Given the description of an element on the screen output the (x, y) to click on. 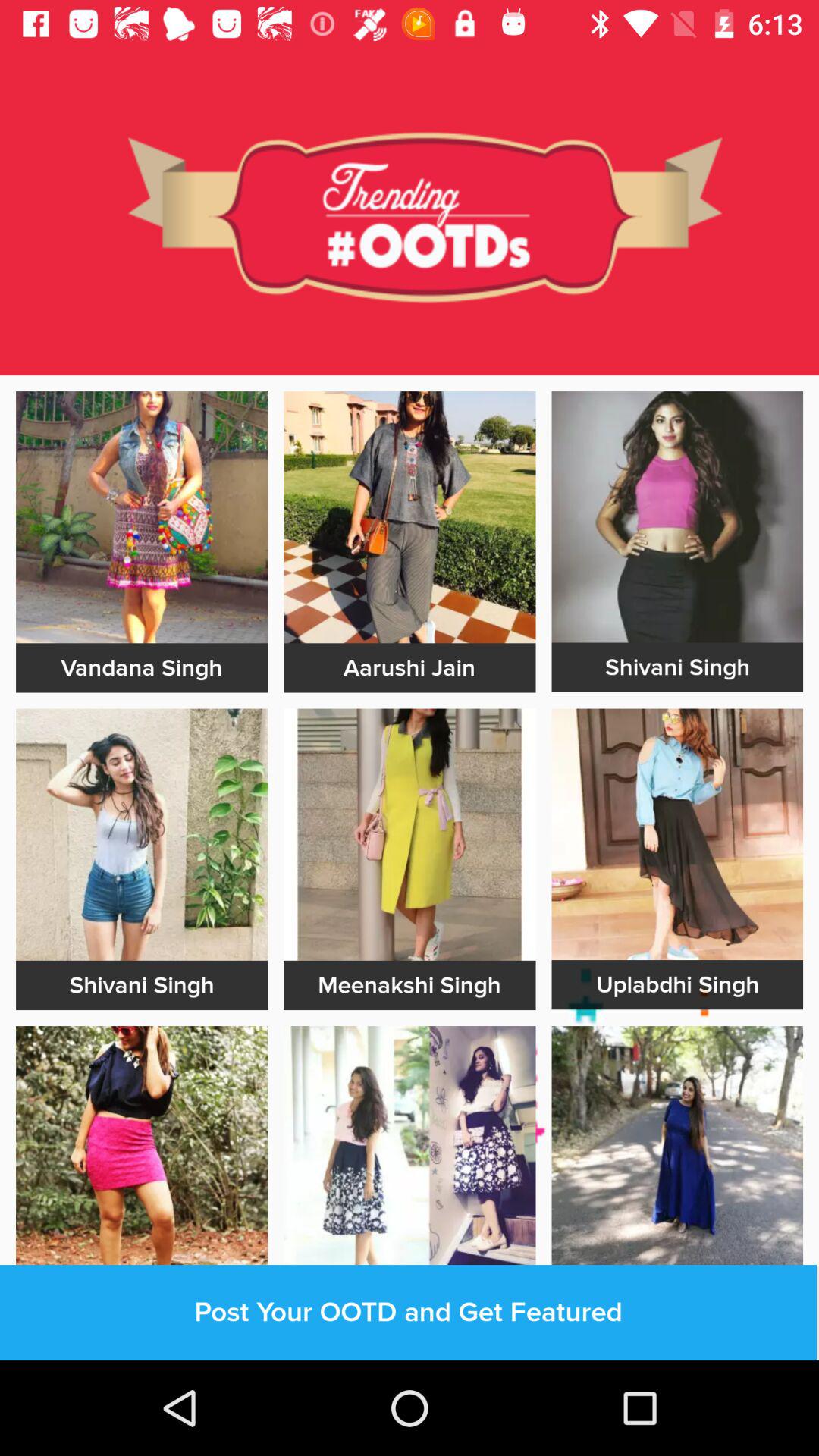
look profile (409, 834)
